Given the description of an element on the screen output the (x, y) to click on. 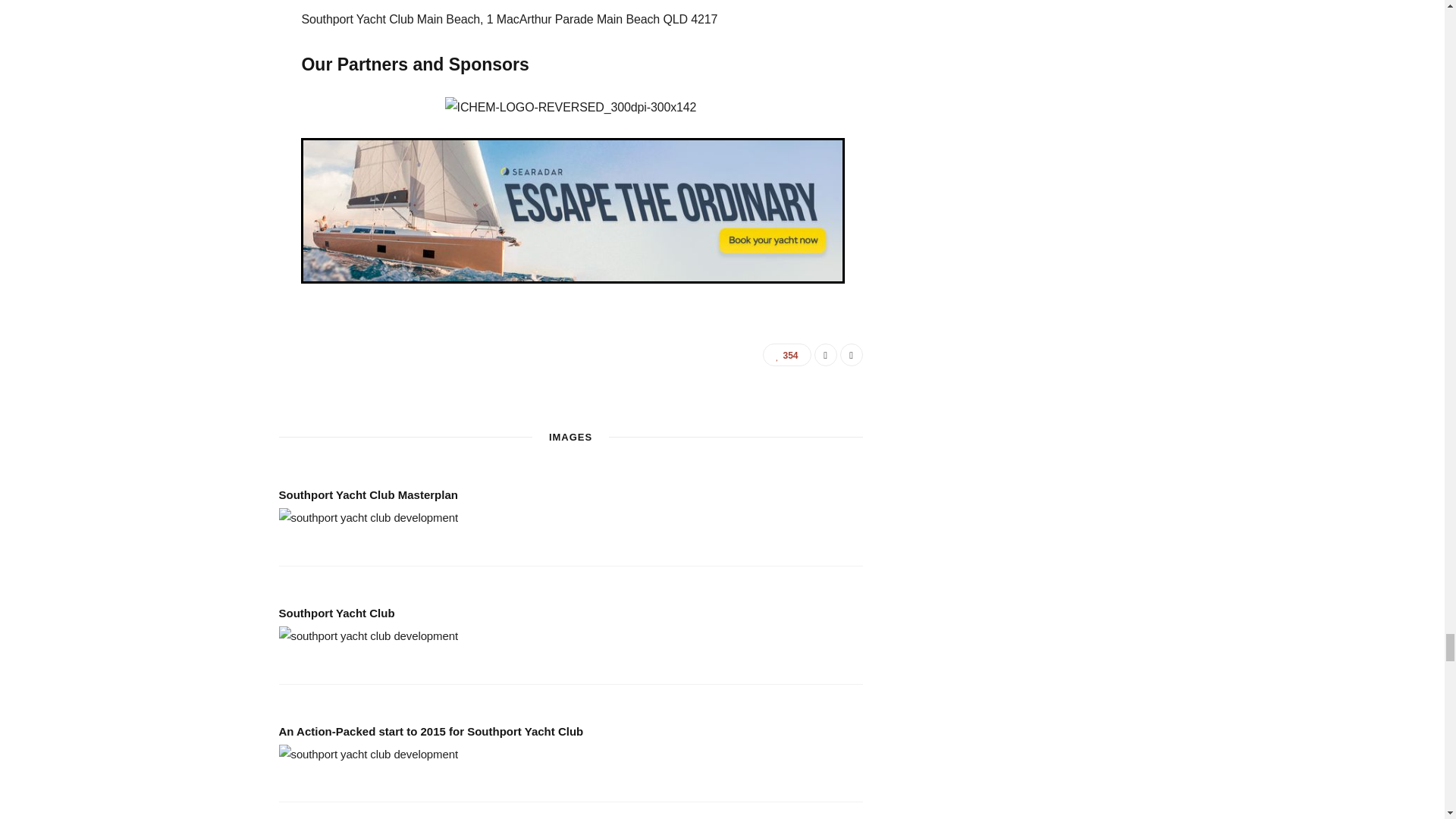
354 (786, 354)
